Given the description of an element on the screen output the (x, y) to click on. 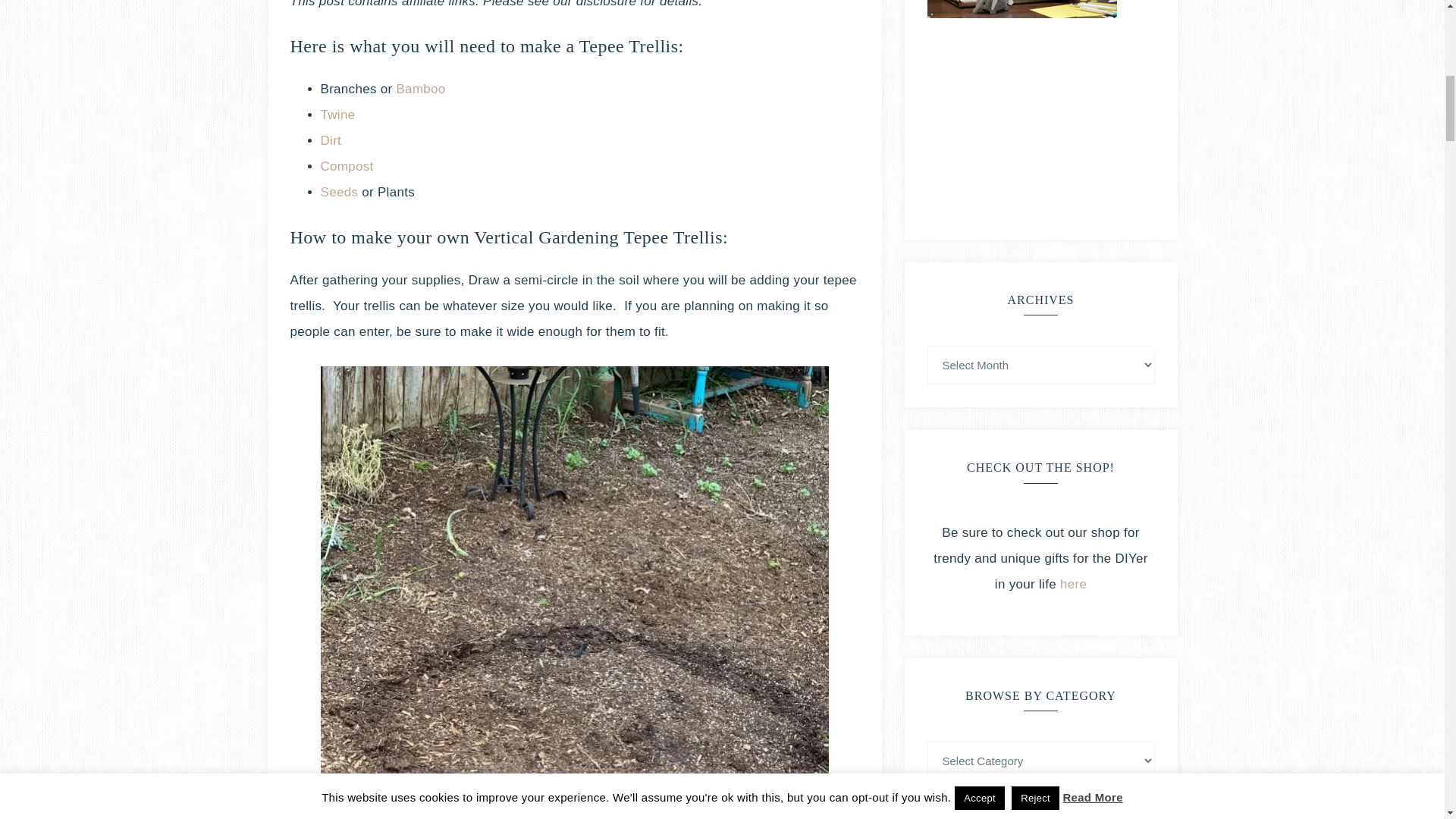
Advertisement (1040, 122)
Dirt (330, 140)
Twine (337, 114)
Compost (346, 165)
Seeds (340, 192)
Bamboo (420, 88)
